Given the description of an element on the screen output the (x, y) to click on. 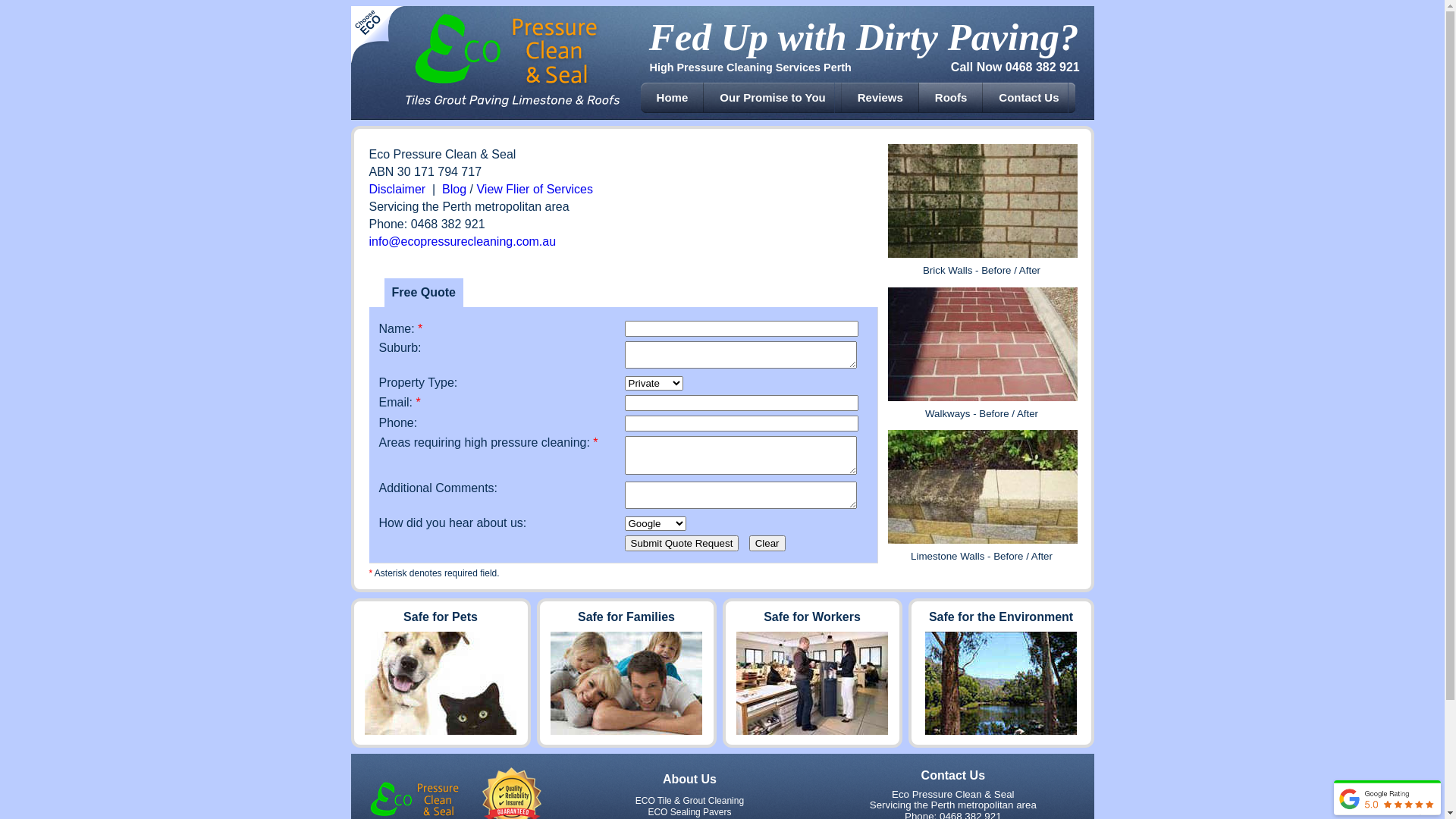
info@ecopressurecleaning.com.au Element type: text (461, 241)
High Pressure Cleaning Services Perth Element type: text (749, 67)
View Flier of Services Element type: text (534, 188)
Our Promise to You Element type: text (771, 97)
ECO Sealing Pavers Element type: text (689, 811)
Roofs Element type: text (951, 97)
Free Quote Element type: text (422, 292)
Blog Element type: text (454, 188)
Submit Quote Request Element type: text (681, 543)
ECO Tile & Grout Cleaning Element type: text (689, 800)
Clear Element type: text (767, 543)
About Us Element type: text (689, 778)
Disclaimer Element type: text (396, 188)
Home Element type: text (672, 97)
Contact Us Element type: text (1028, 97)
Contact Us Element type: text (953, 774)
Reviews Element type: text (880, 97)
